Given the description of an element on the screen output the (x, y) to click on. 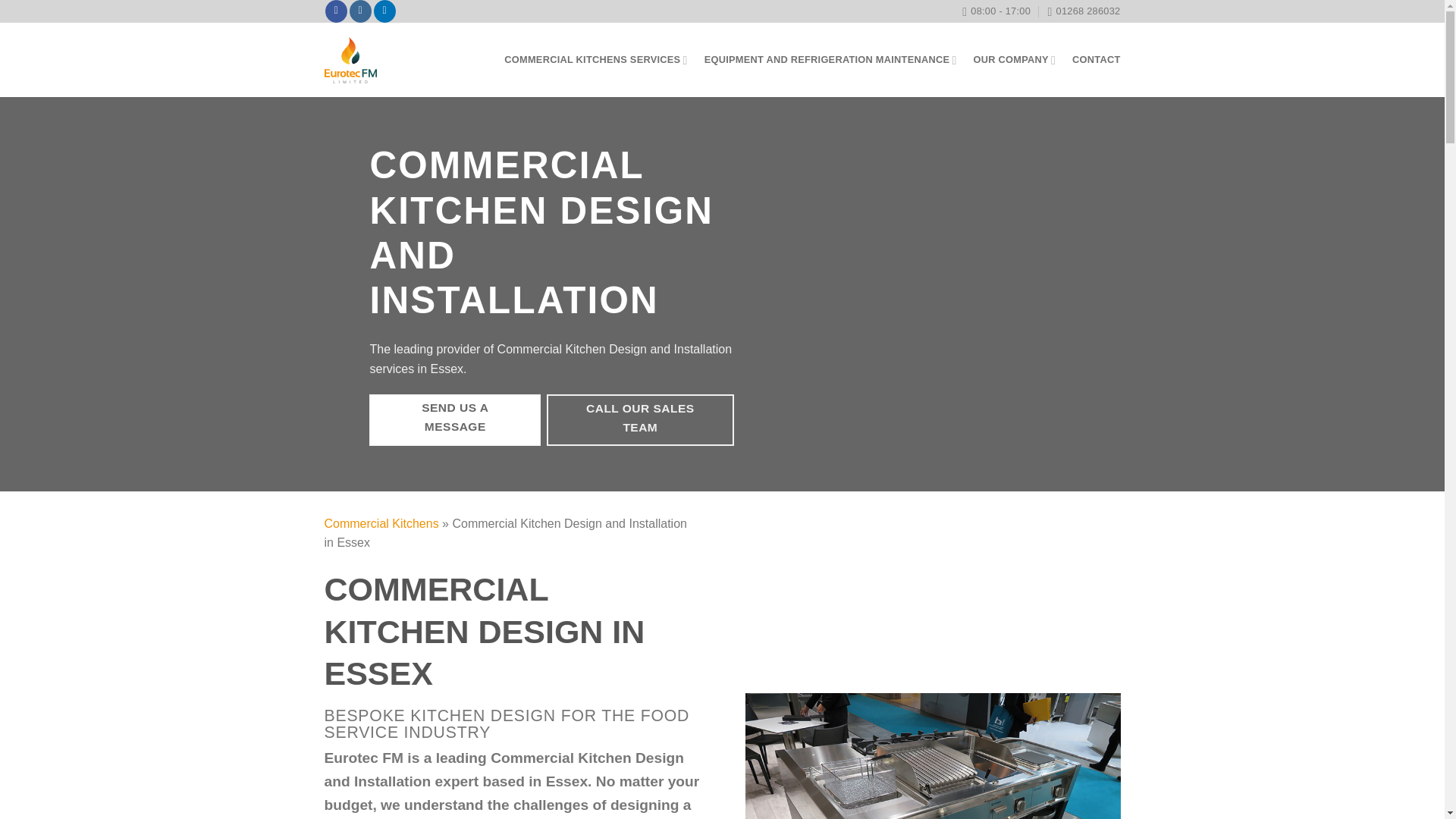
COMMERCIAL KITCHENS SERVICES (595, 59)
Follow on Instagram (360, 11)
SEND US A MESSAGE (454, 419)
08:00 - 17:00  (996, 11)
Commercial Kitchens (381, 522)
01268 286032 (1082, 11)
01268 286032 (1082, 11)
CALL OUR SALES TEAM (640, 419)
Follow on Facebook (335, 11)
CONTACT (1095, 59)
